Given the description of an element on the screen output the (x, y) to click on. 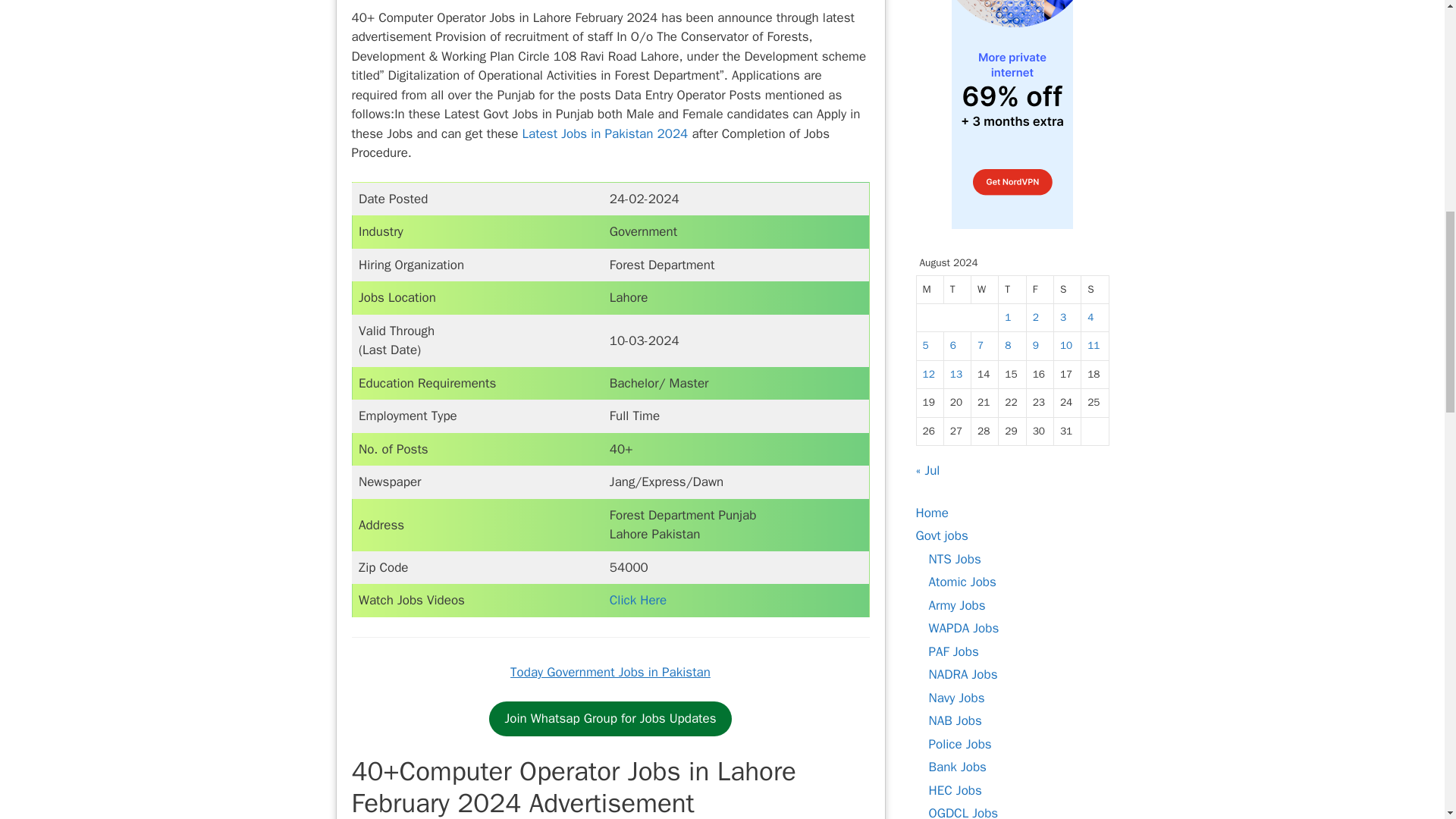
Tuesday (957, 289)
Monday (929, 289)
